Given the description of an element on the screen output the (x, y) to click on. 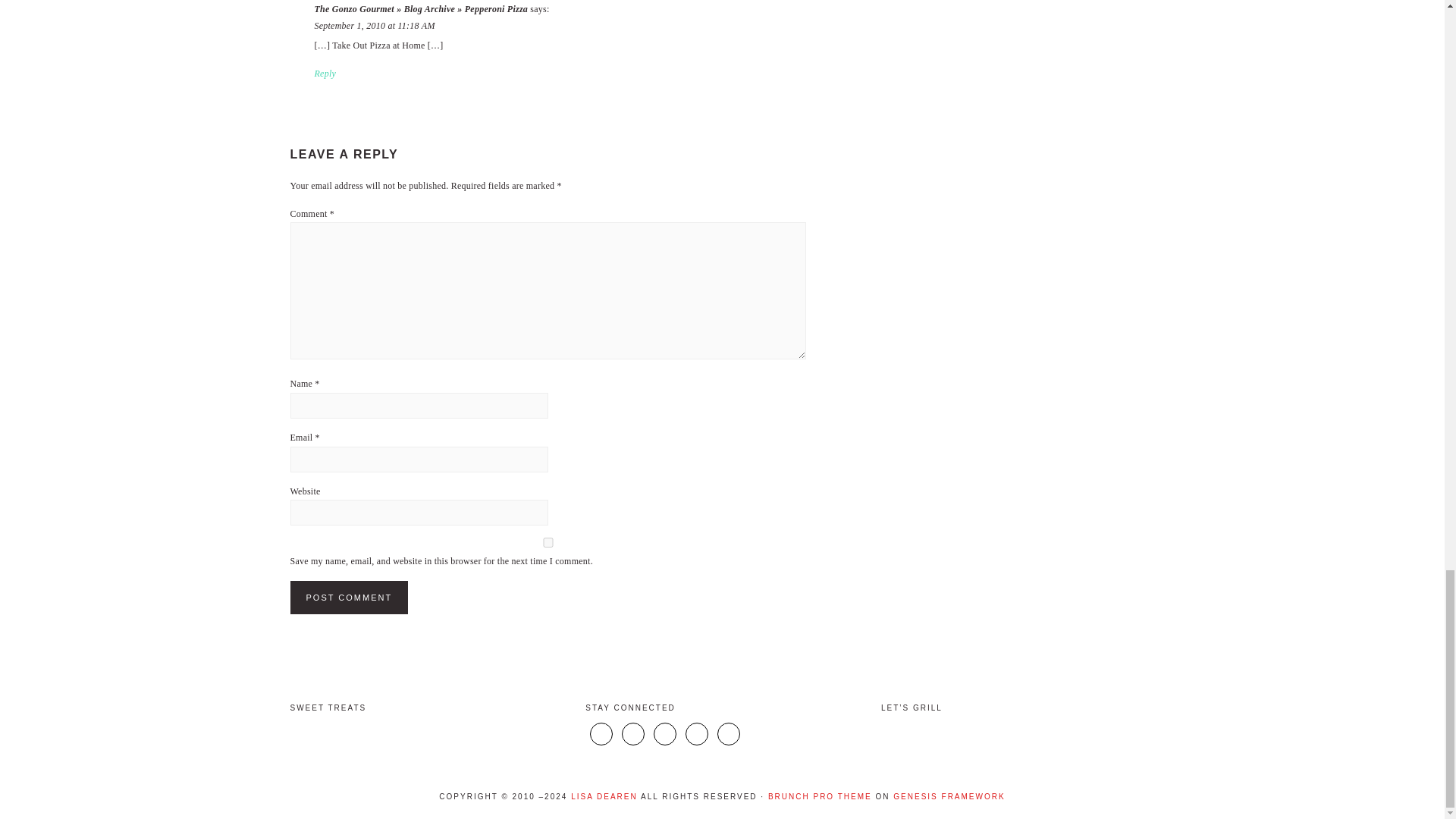
Seafood Rice Salad (922, 734)
Gluten-Free Chocolate Chip Cookie Bites (508, 734)
yes (547, 542)
September 1, 2010 at 11:18 AM (373, 25)
Homemade Caramel Sauce (419, 734)
Reply (325, 72)
Post Comment (348, 597)
Post Comment (348, 597)
Pork Tenderloin with Spice Rub (1011, 734)
Chimichurri Sauce (1099, 734)
